Given the description of an element on the screen output the (x, y) to click on. 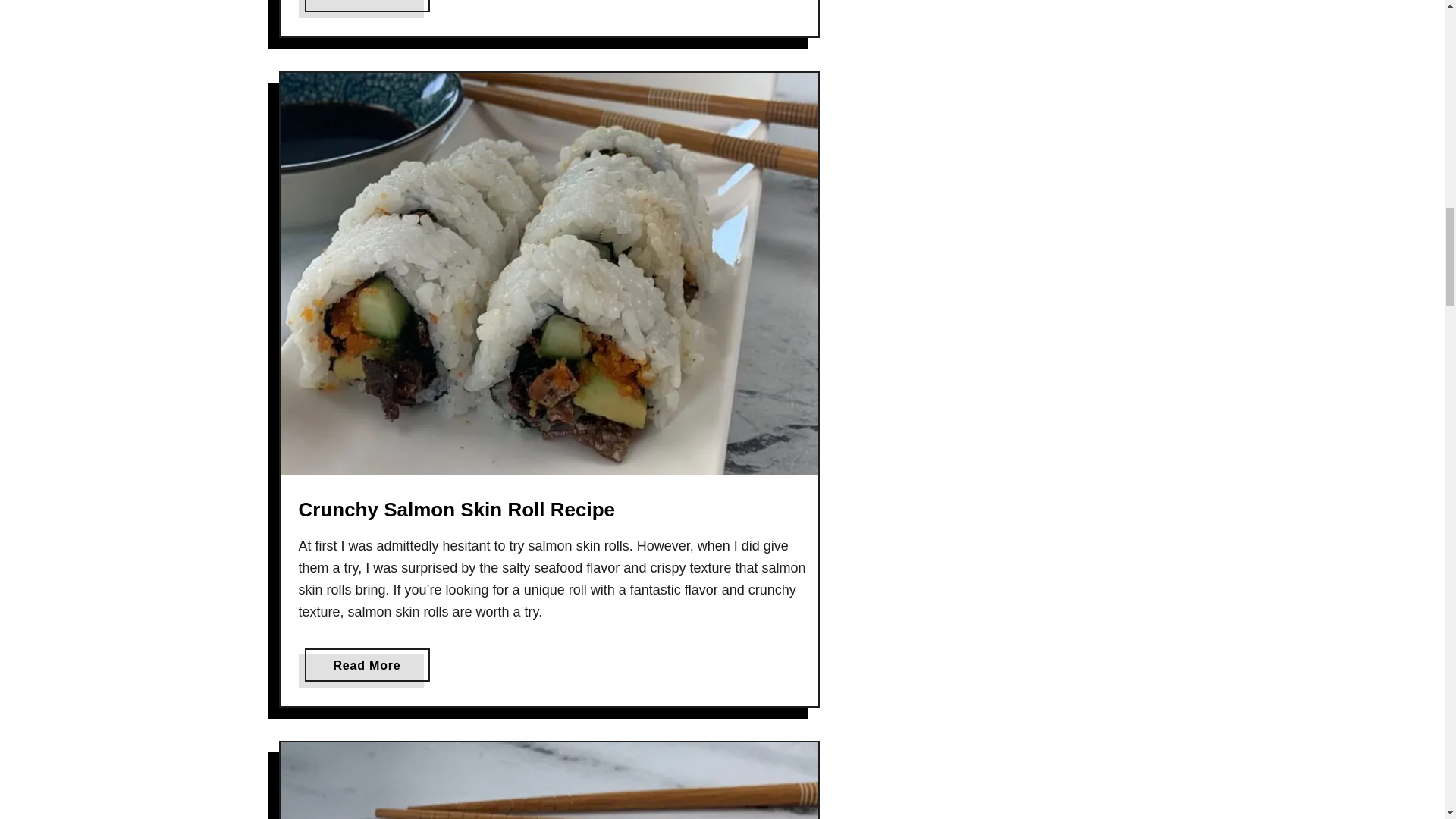
Crunchy Salmon Skin Roll Recipe (366, 664)
Crunchy Salmon Skin Roll Recipe (456, 508)
